Given the description of an element on the screen output the (x, y) to click on. 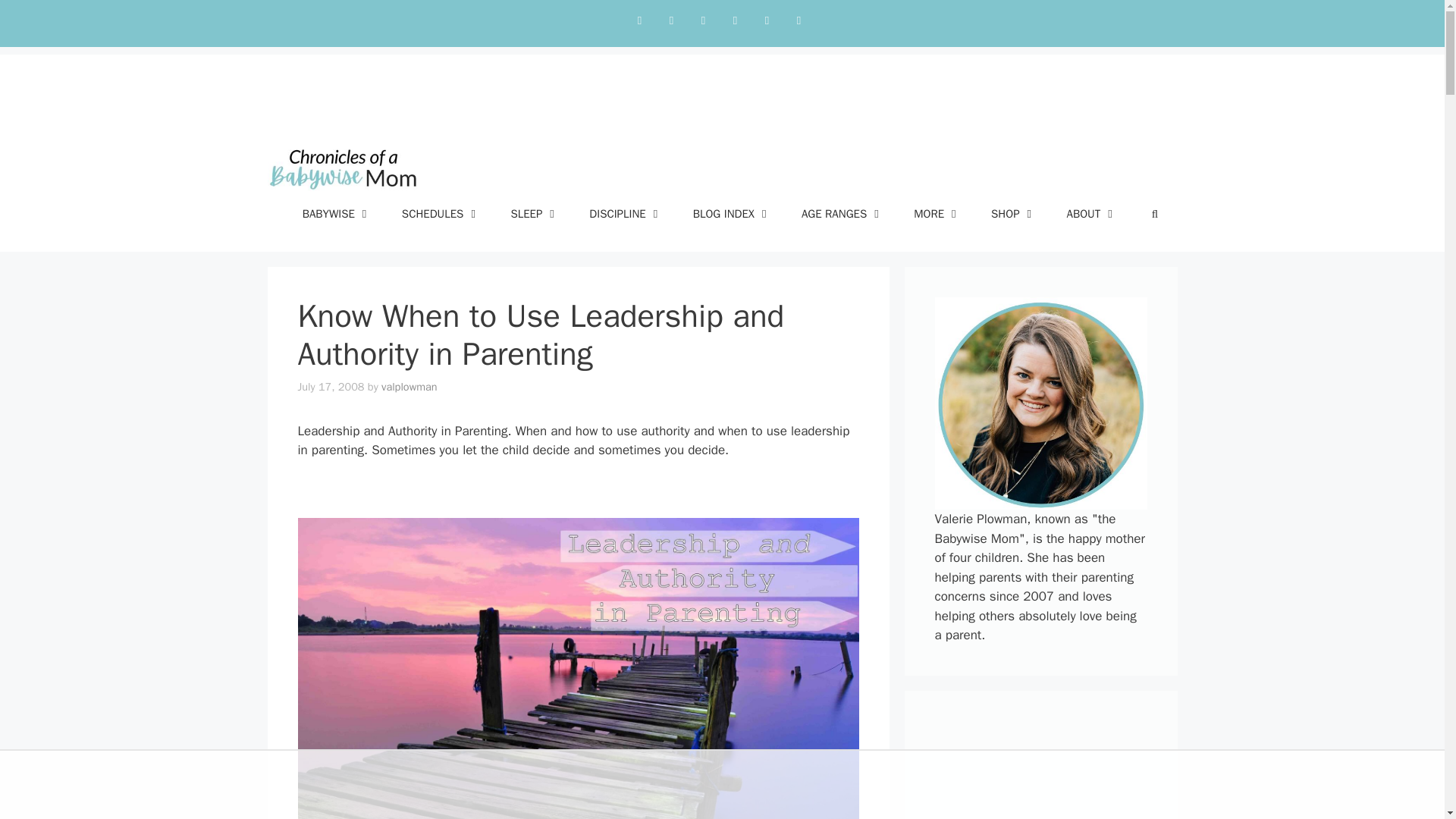
View all posts by valplowman (409, 386)
Facebook (703, 20)
YouTube (766, 20)
SLEEP (534, 213)
DISCIPLINE (625, 213)
Twitter (639, 20)
Pinterest (735, 20)
Newsletter (798, 20)
SCHEDULES (441, 213)
Instagram (671, 20)
